Given the description of an element on the screen output the (x, y) to click on. 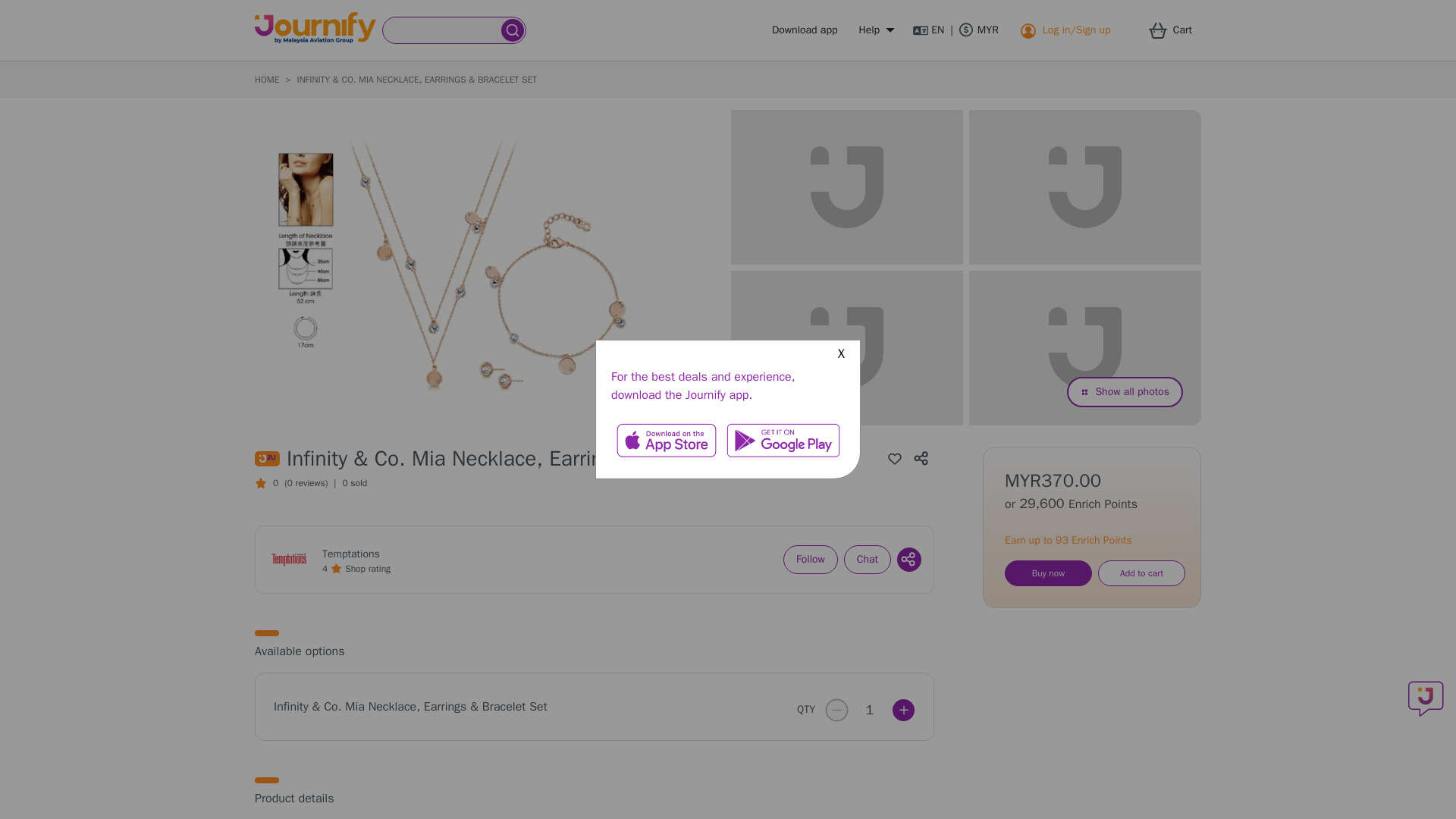
Initiate search (512, 29)
Buy now (1048, 573)
Download app (804, 29)
EN (927, 29)
Chat (867, 559)
Cart (1174, 30)
Temptations (350, 553)
Add to cart (1141, 573)
Follow (810, 559)
HOME (266, 79)
Search (442, 30)
MYR (978, 29)
Help (875, 29)
Show all photos (1124, 391)
